Given the description of an element on the screen output the (x, y) to click on. 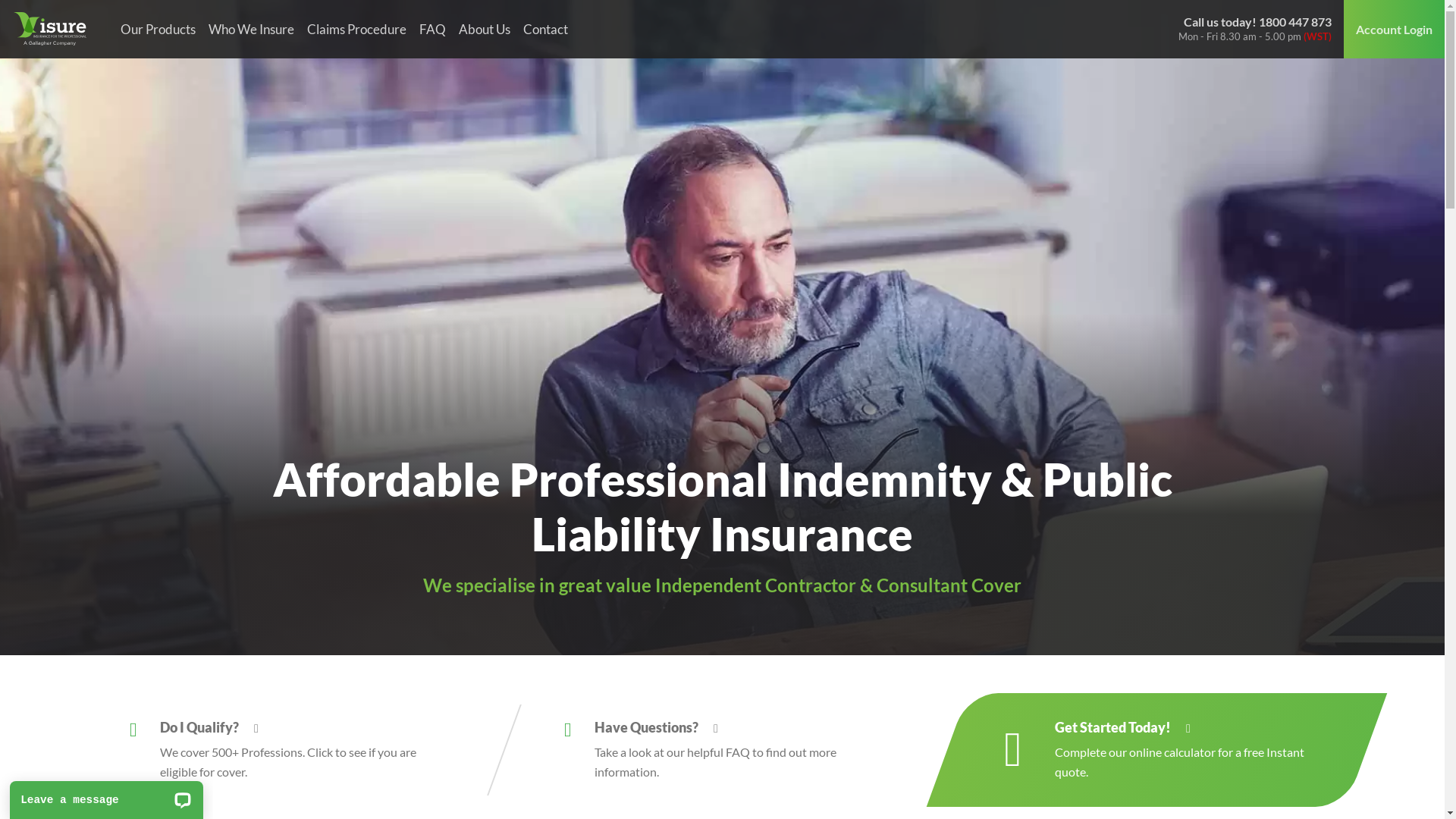
Call us today! 1800 447 873 Element type: text (1257, 20)
About Us Element type: text (483, 29)
FAQ Element type: text (431, 29)
Contact Element type: text (545, 29)
Our Products Element type: text (157, 29)
Account Login Element type: text (1393, 29)
Claims Procedure Element type: text (356, 29)
Who We Insure Element type: text (250, 29)
